Given the description of an element on the screen output the (x, y) to click on. 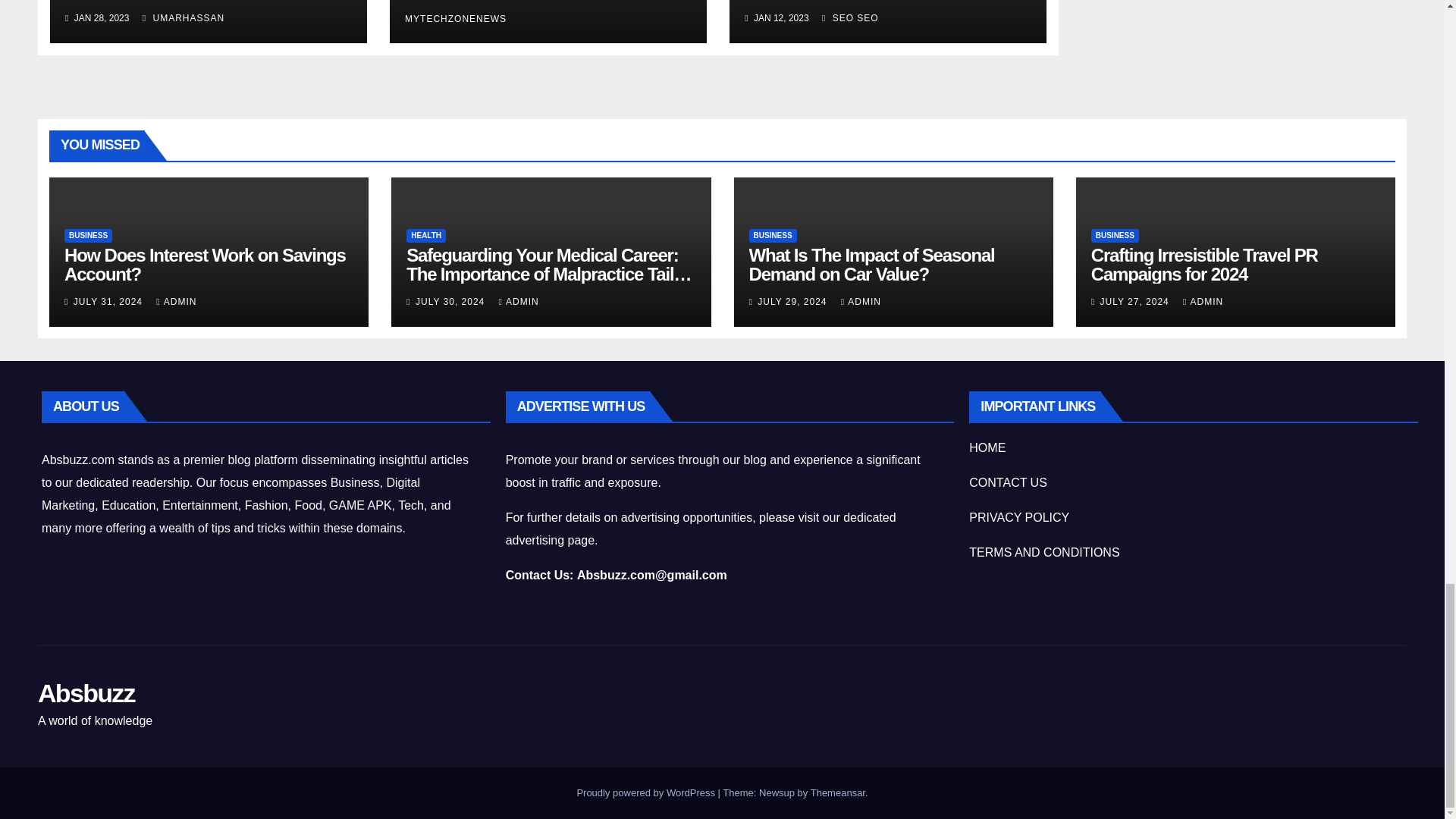
Permalink to: How Does Interest Work on Savings Account? (205, 264)
